Given the description of an element on the screen output the (x, y) to click on. 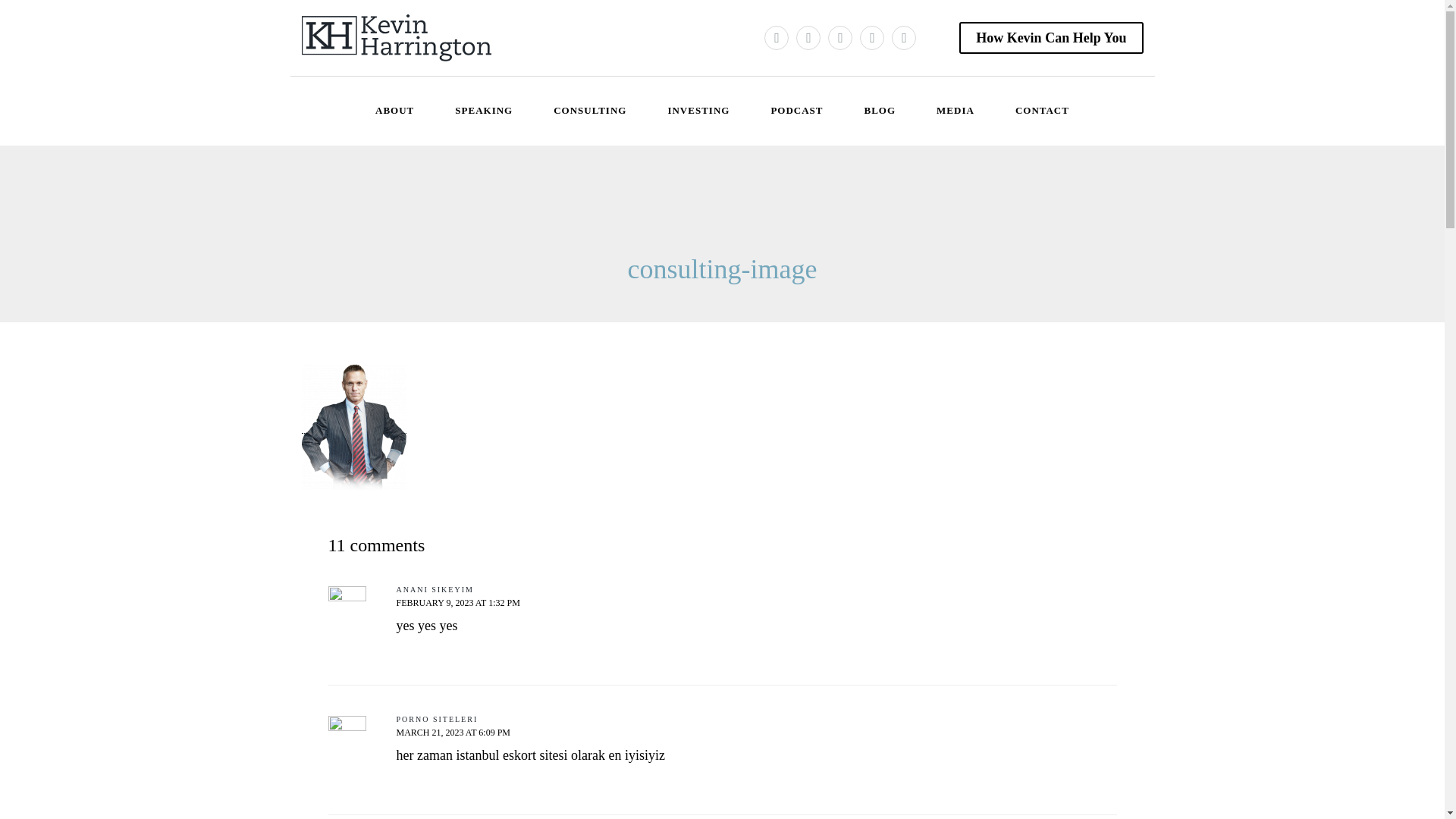
INVESTING (698, 110)
BLOG (879, 110)
CONSULTING (590, 110)
SPEAKING (483, 110)
How Kevin Can Help You (1050, 38)
PODCAST (797, 110)
PORNO SITELERI (436, 718)
ANANI SIKEYIM (434, 589)
MARCH 21, 2023 AT 6:09 PM (452, 732)
FEBRUARY 9, 2023 AT 1:32 PM (457, 602)
